Given the description of an element on the screen output the (x, y) to click on. 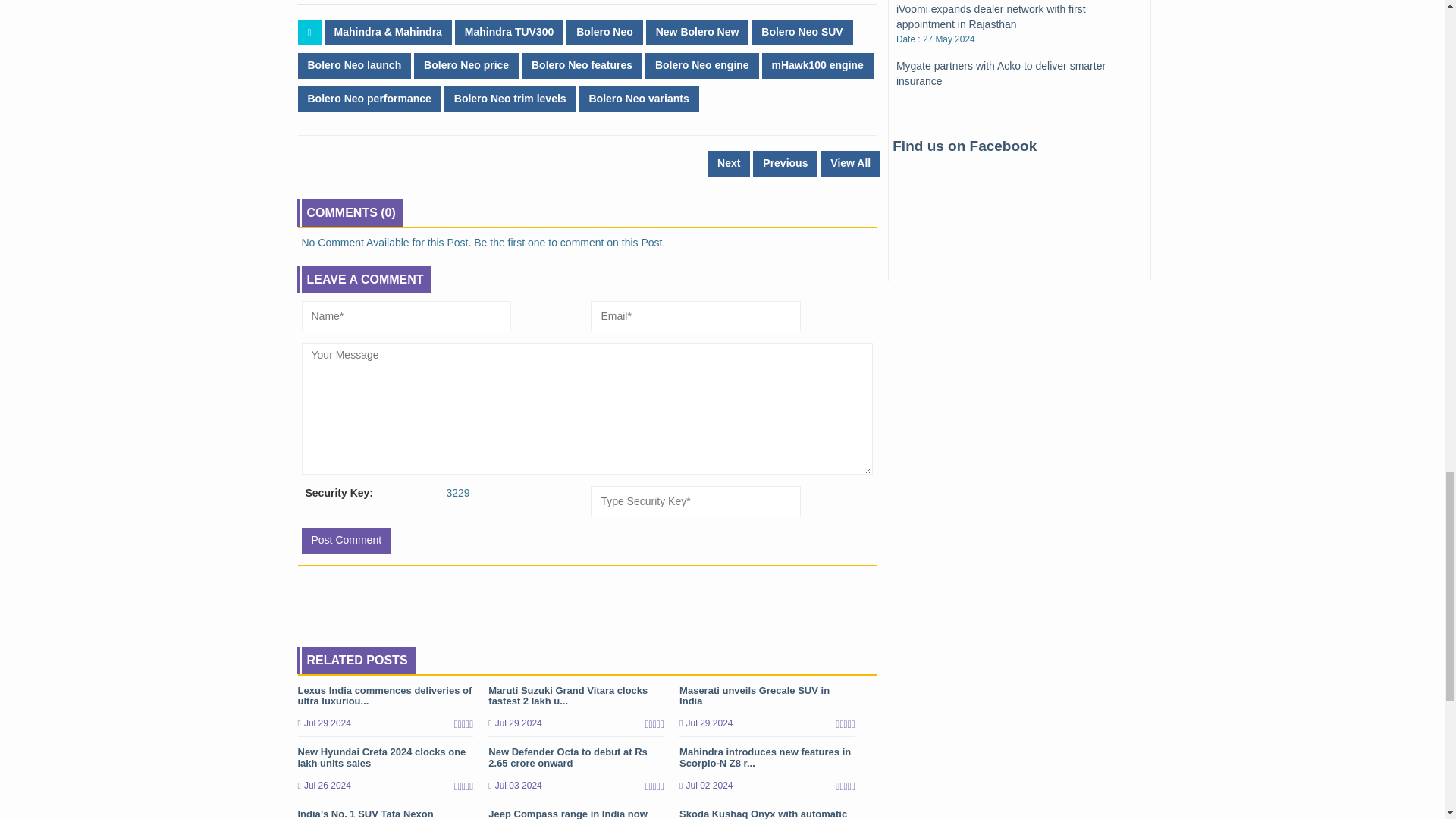
Bolero Neo (604, 32)
Post Comment (346, 540)
Mahindra TUV300 (508, 32)
New Bolero New (697, 32)
